Given the description of an element on the screen output the (x, y) to click on. 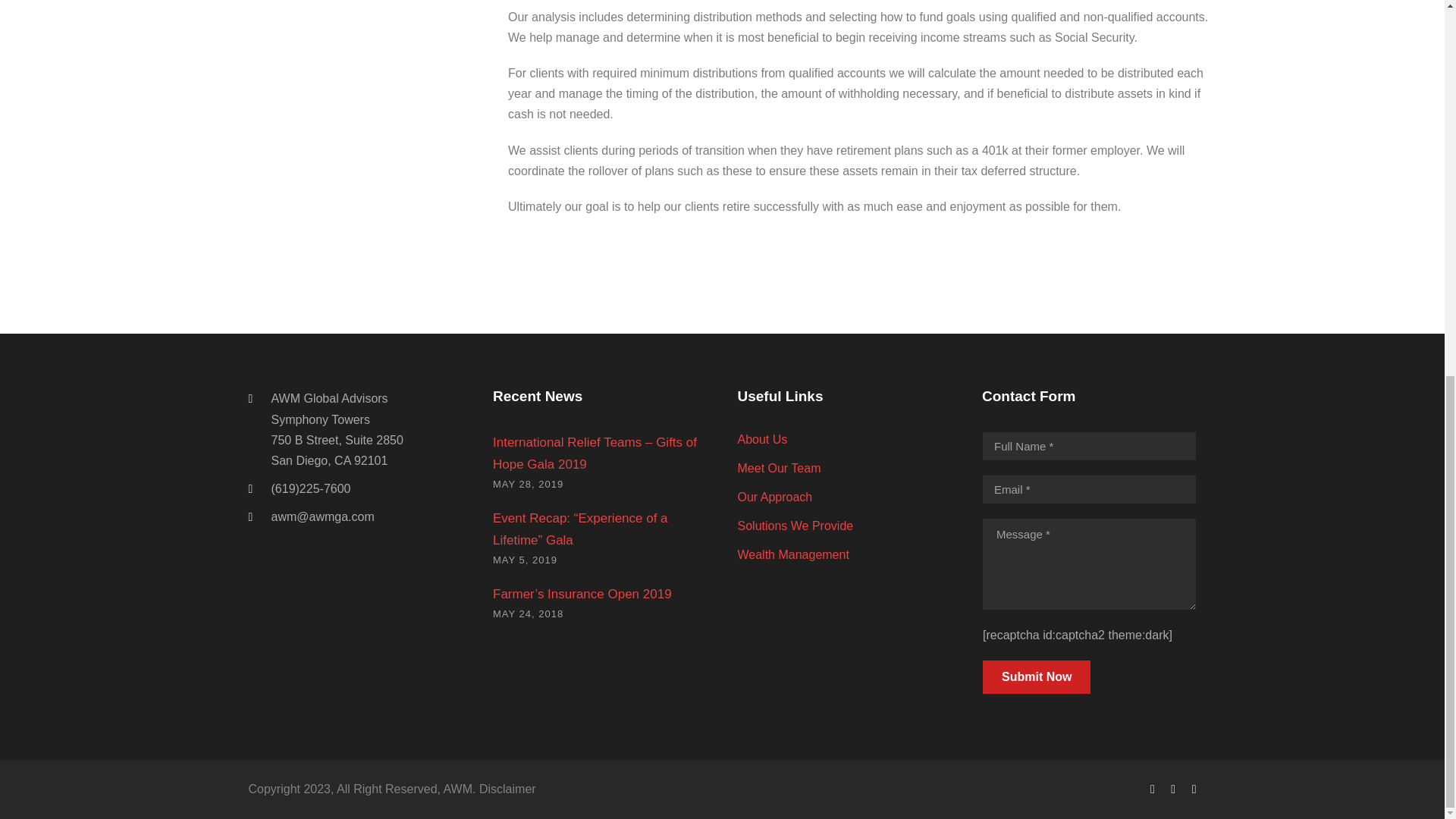
Submit Now (1036, 676)
